Given the description of an element on the screen output the (x, y) to click on. 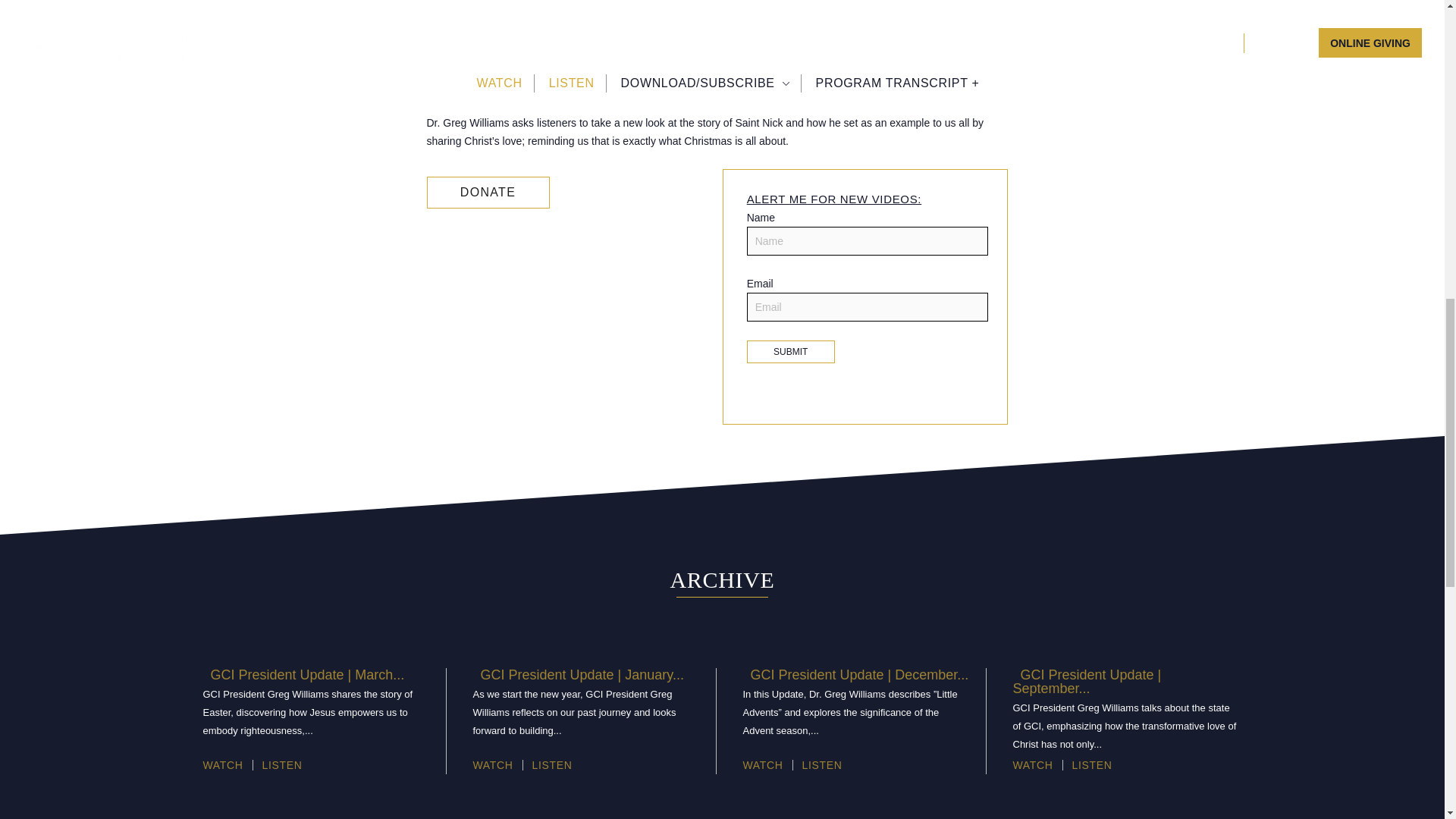
Submit (790, 351)
